Given the description of an element on the screen output the (x, y) to click on. 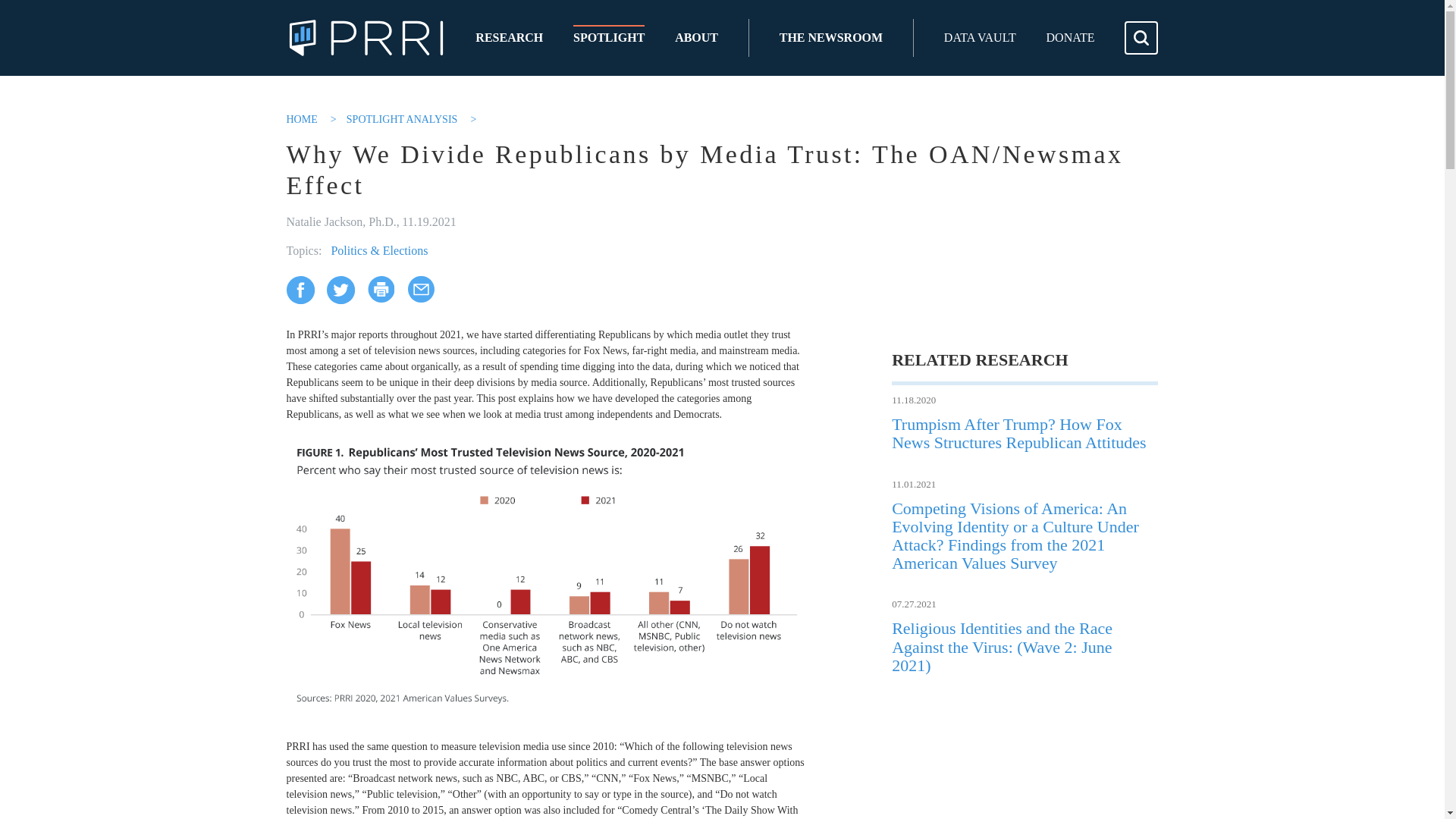
THE NEWSROOM (830, 37)
SPOTLIGHT ANALYSIS (403, 119)
DATA VAULT (979, 37)
ABOUT (696, 37)
Go to Spotlight Analysis. (403, 119)
SPOTLIGHT (609, 37)
Go to PRRI. (303, 119)
DONATE (1070, 37)
HOME (303, 119)
RESEARCH (509, 37)
